Given the description of an element on the screen output the (x, y) to click on. 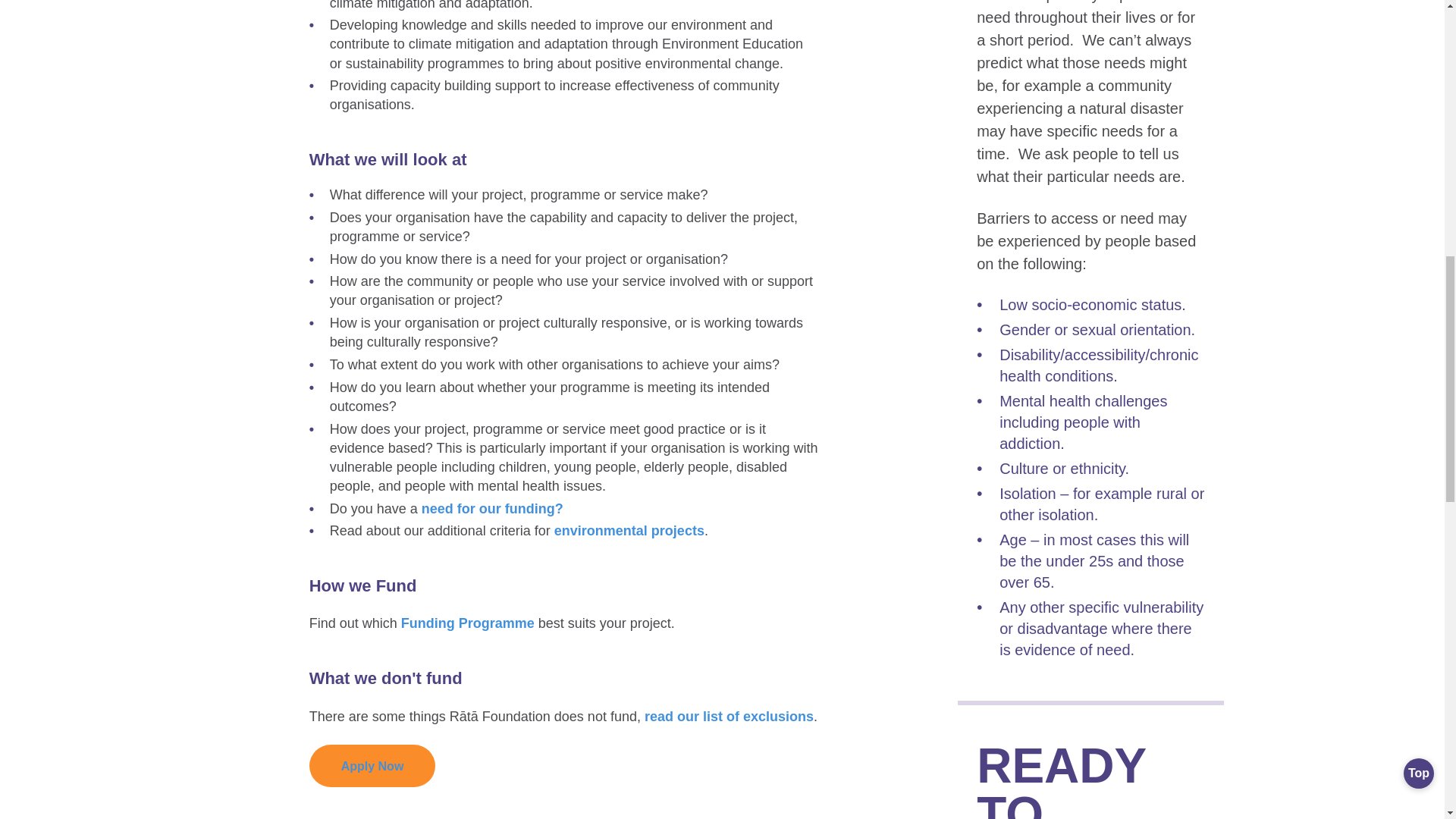
How We Fund (467, 622)
Eligibility and Timeframes (729, 716)
Additional Criteria for Environment Projects (629, 530)
